Given the description of an element on the screen output the (x, y) to click on. 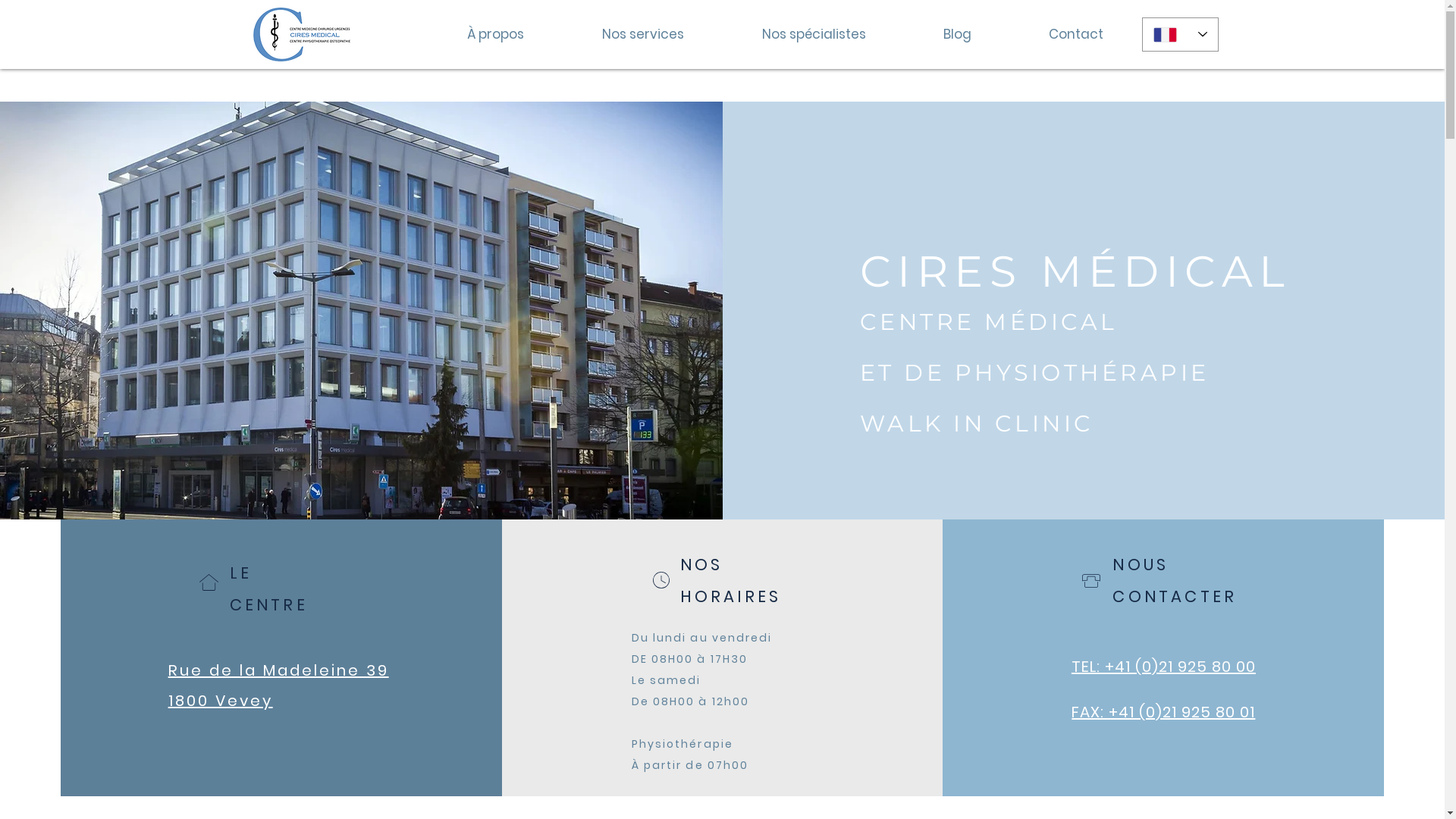
Contact Element type: text (1076, 34)
1800 Vevey Element type: text (220, 700)
Rue de la Madeleine 39 Element type: text (278, 669)
Nos services Element type: text (642, 34)
Blog Element type: text (956, 34)
FAX: +41 (0)21 925 80 01 Element type: text (1163, 711)
TEL: +41 (0)21 925 80 00 Element type: text (1163, 666)
